Given the description of an element on the screen output the (x, y) to click on. 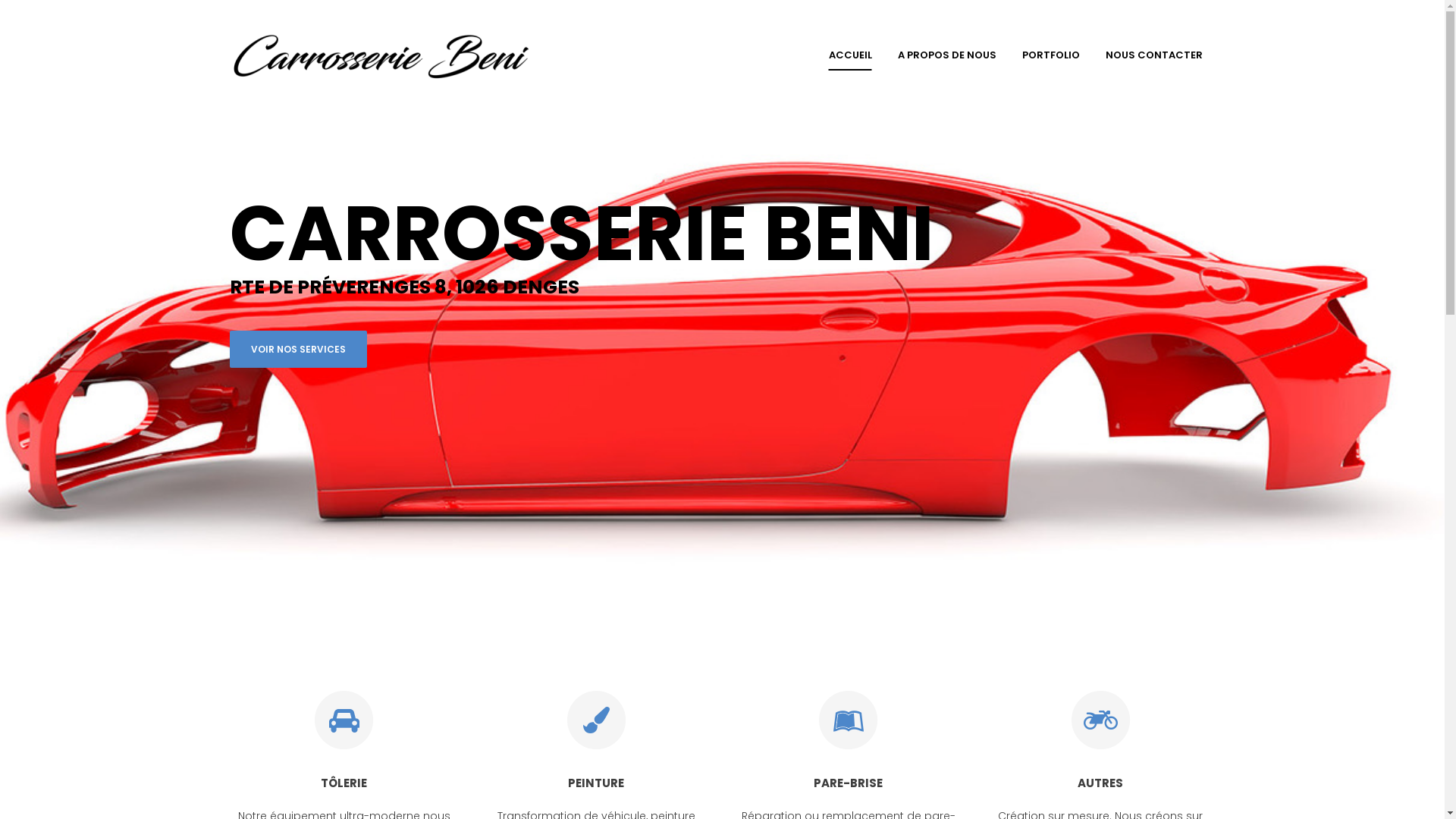
PORTFOLIO Element type: text (1050, 55)
A PROPOS DE NOUS Element type: text (946, 55)
VOIR NOS SERVICES Element type: text (297, 348)
NOUS CONTACTER Element type: text (1153, 55)
ACCUEIL Element type: text (849, 55)
